Given the description of an element on the screen output the (x, y) to click on. 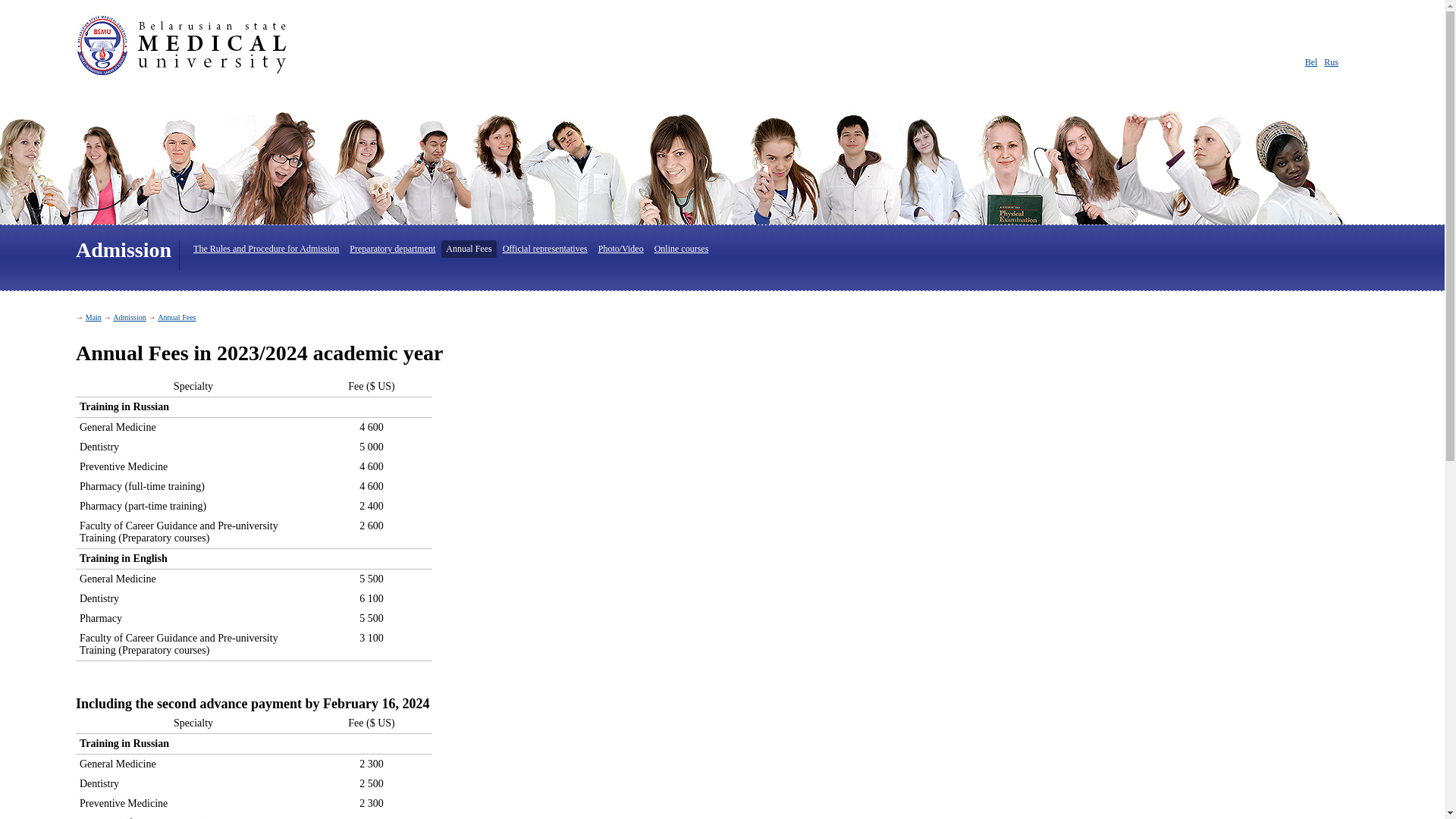
Photo/Video Element type: text (620, 248)
Official representatives Element type: text (545, 248)
Bel Element type: text (1311, 61)
Annual Fees Element type: text (176, 317)
Annual Fees Element type: text (468, 248)
The Rules and Procedure for Admission Element type: text (265, 248)
Main page Element type: hover (196, 47)
Admission Element type: text (128, 317)
Main Element type: text (93, 317)
Rus Element type: text (1331, 61)
Online courses Element type: text (681, 248)
Preparatory department Element type: text (392, 248)
